Given the description of an element on the screen output the (x, y) to click on. 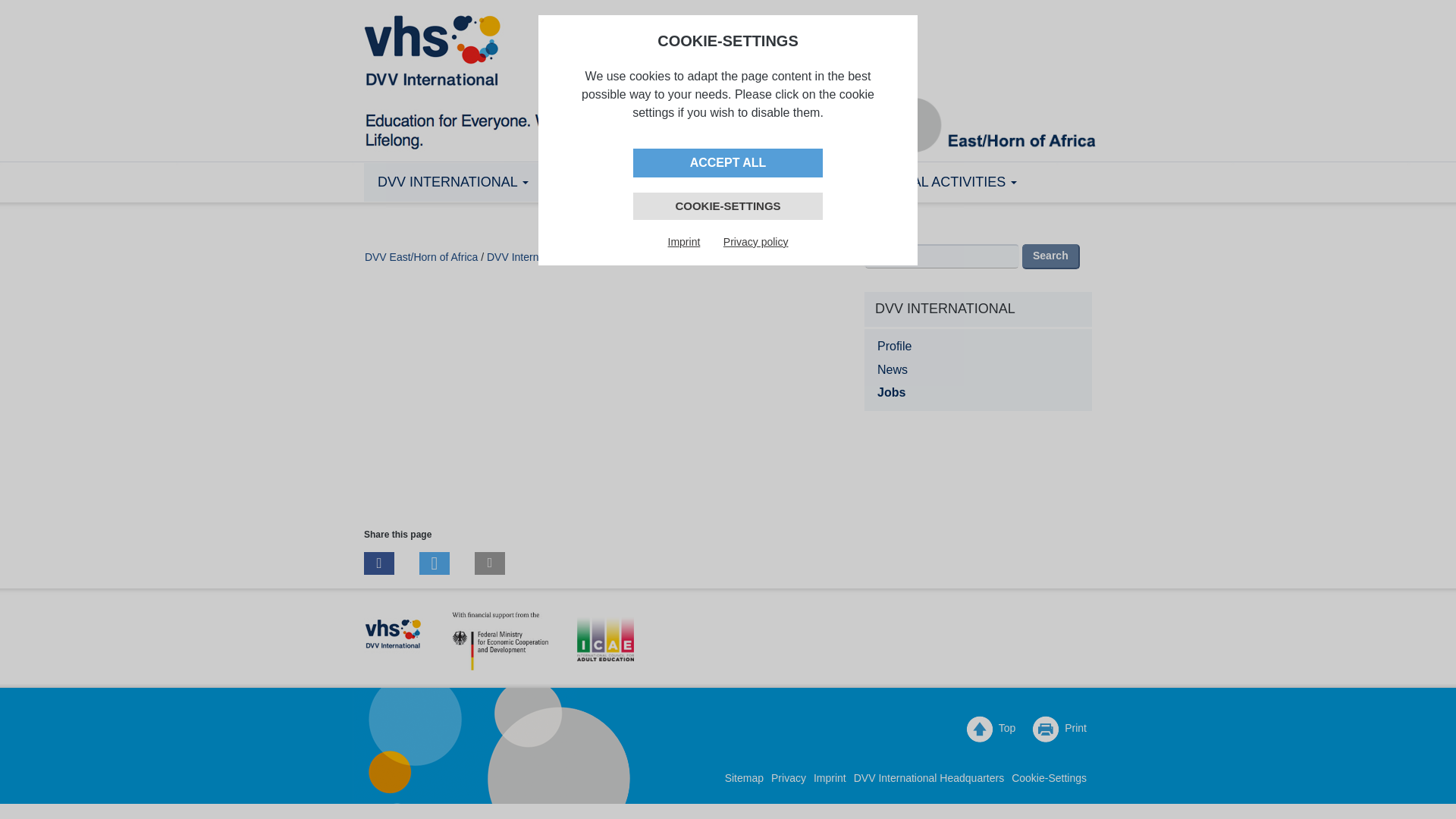
DVV International (452, 181)
Search (1051, 256)
REGIONAL ACTIVITIES (937, 181)
Ethiopia (697, 181)
Profile (977, 346)
UGANDA (796, 181)
DVV International (528, 256)
DVV INTERNATIONAL (452, 181)
Uganda (796, 181)
Search (1051, 256)
Tanzania (593, 181)
ETHIOPIA (697, 181)
TANZANIA (593, 181)
Jobs (977, 393)
News (977, 370)
